Given the description of an element on the screen output the (x, y) to click on. 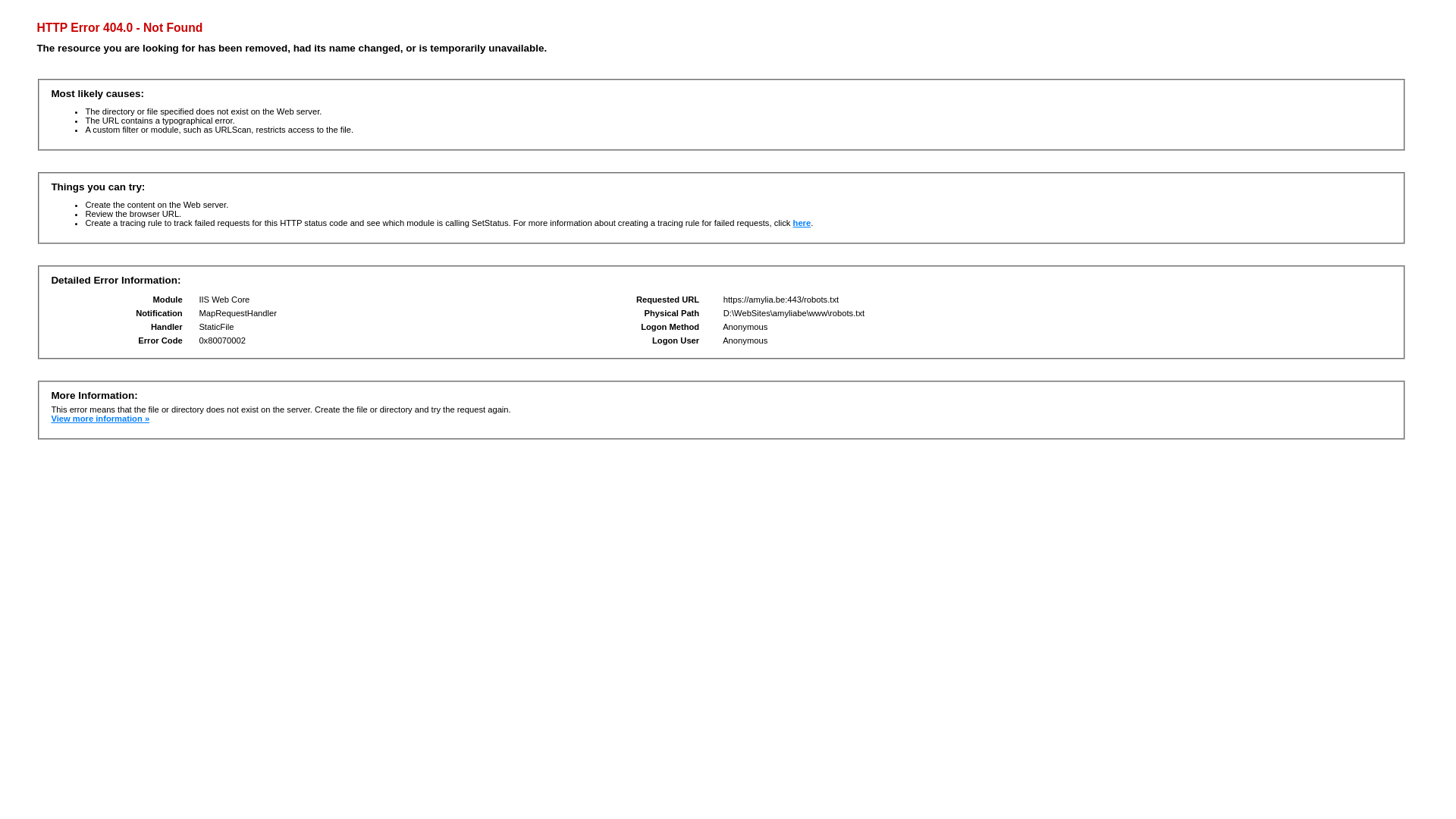
here Element type: text (802, 222)
